Given the description of an element on the screen output the (x, y) to click on. 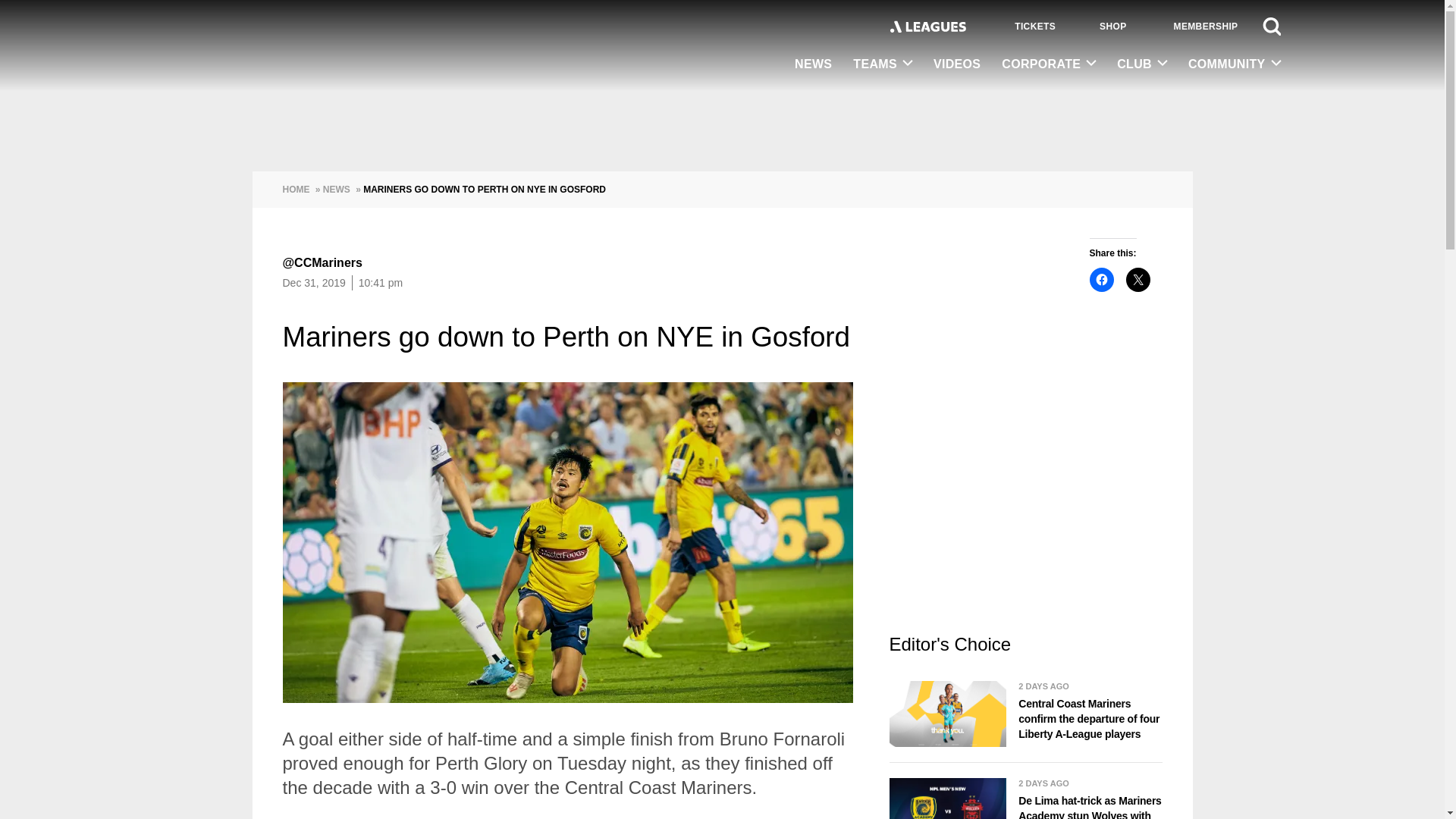
CORPORATE (1048, 64)
VIDEOS (957, 65)
TEAMS (883, 64)
CLUB (1141, 64)
NEWS (813, 65)
